Given the description of an element on the screen output the (x, y) to click on. 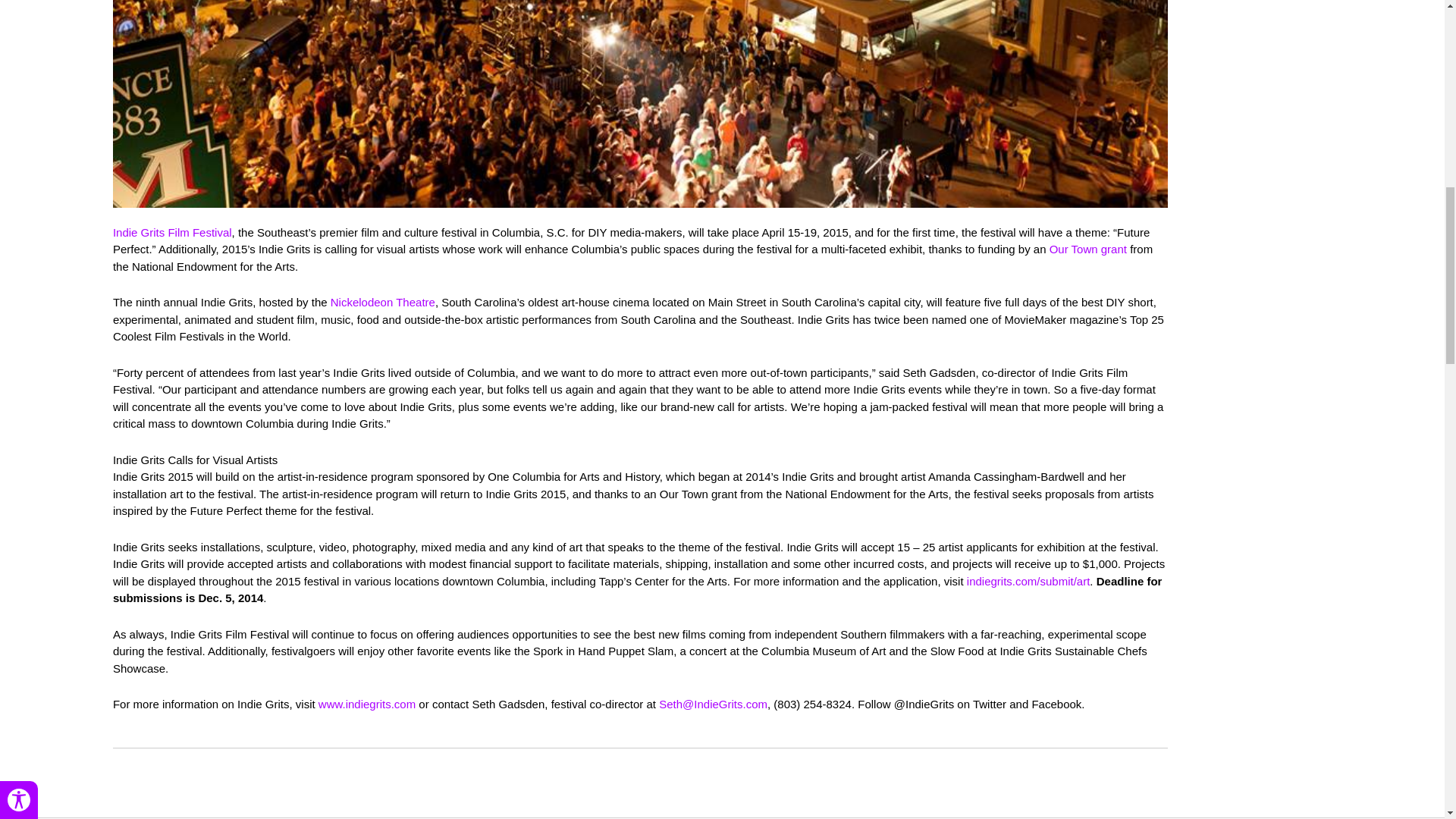
www.indiegrits.com (366, 703)
Our Town grant (1087, 248)
Indie Grits Film Festival (172, 232)
Nickelodeon Theatre (382, 301)
